Given the description of an element on the screen output the (x, y) to click on. 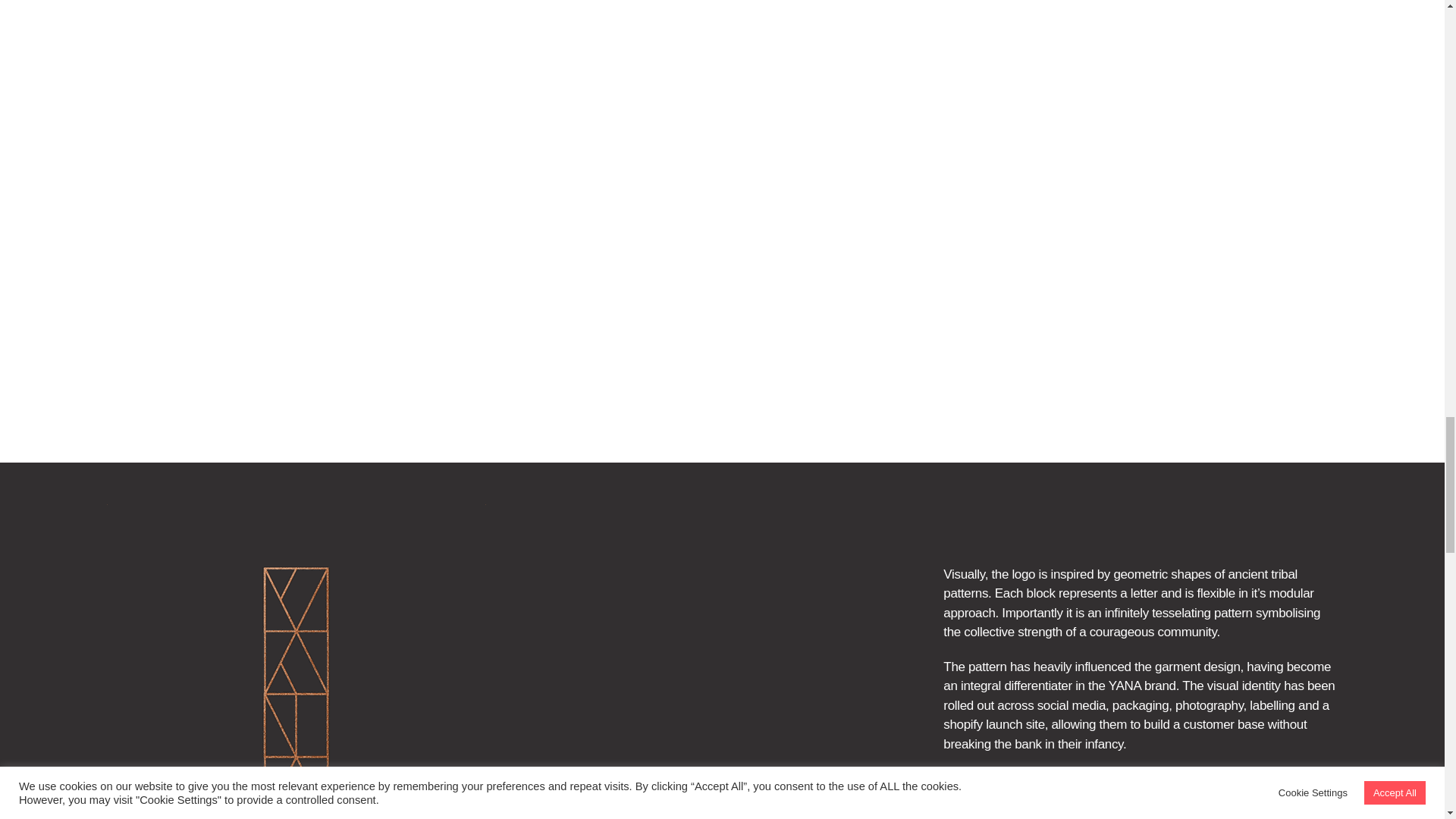
Alex Robson (1297, 798)
Word Garden (1178, 779)
